Given the description of an element on the screen output the (x, y) to click on. 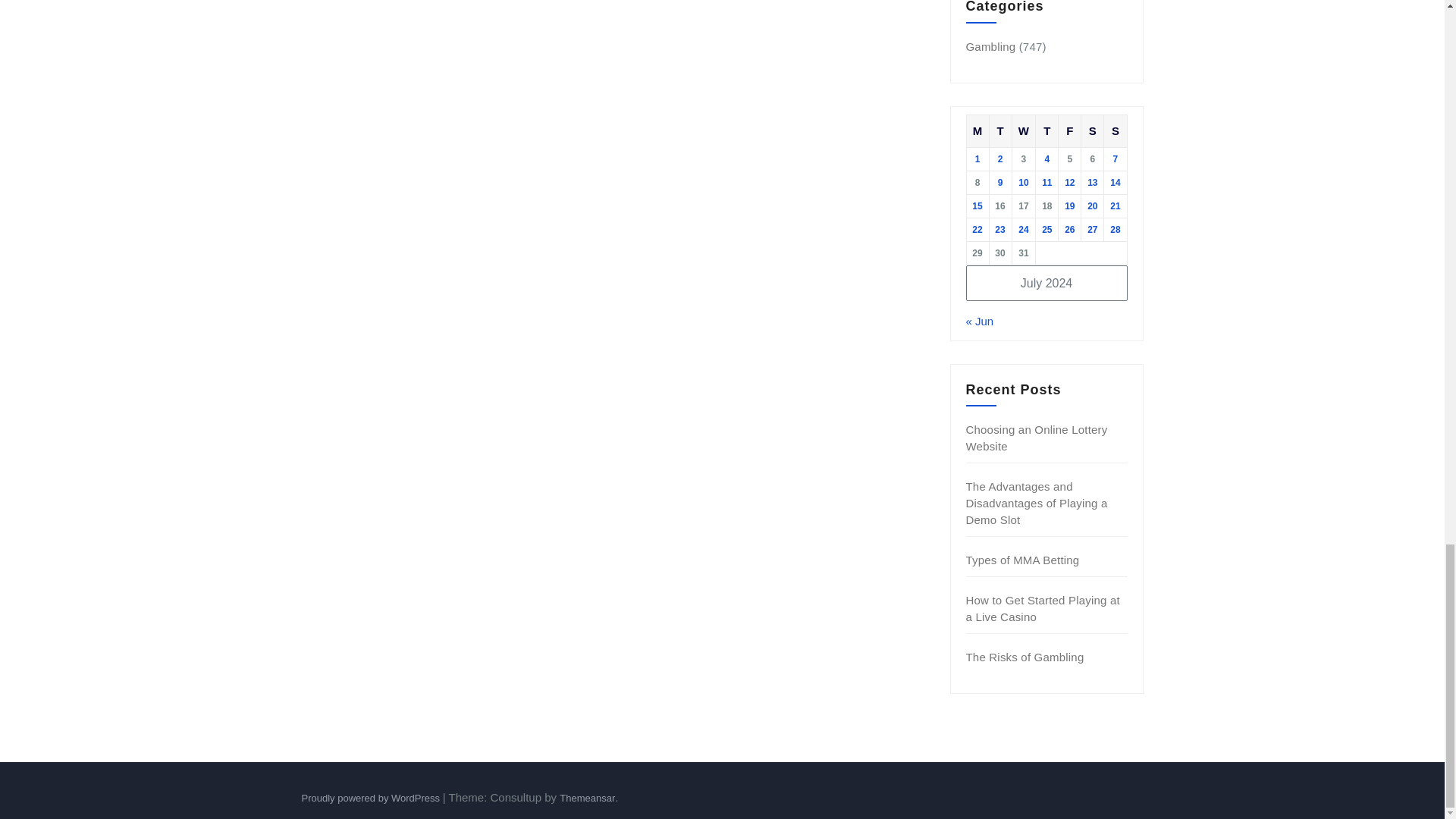
Saturday (1092, 130)
Sunday (1114, 130)
Gambling (991, 46)
2 (1000, 158)
Tuesday (999, 130)
Thursday (1046, 130)
Friday (1069, 130)
1 (977, 158)
Wednesday (1023, 130)
Monday (977, 130)
4 (1046, 158)
